Given the description of an element on the screen output the (x, y) to click on. 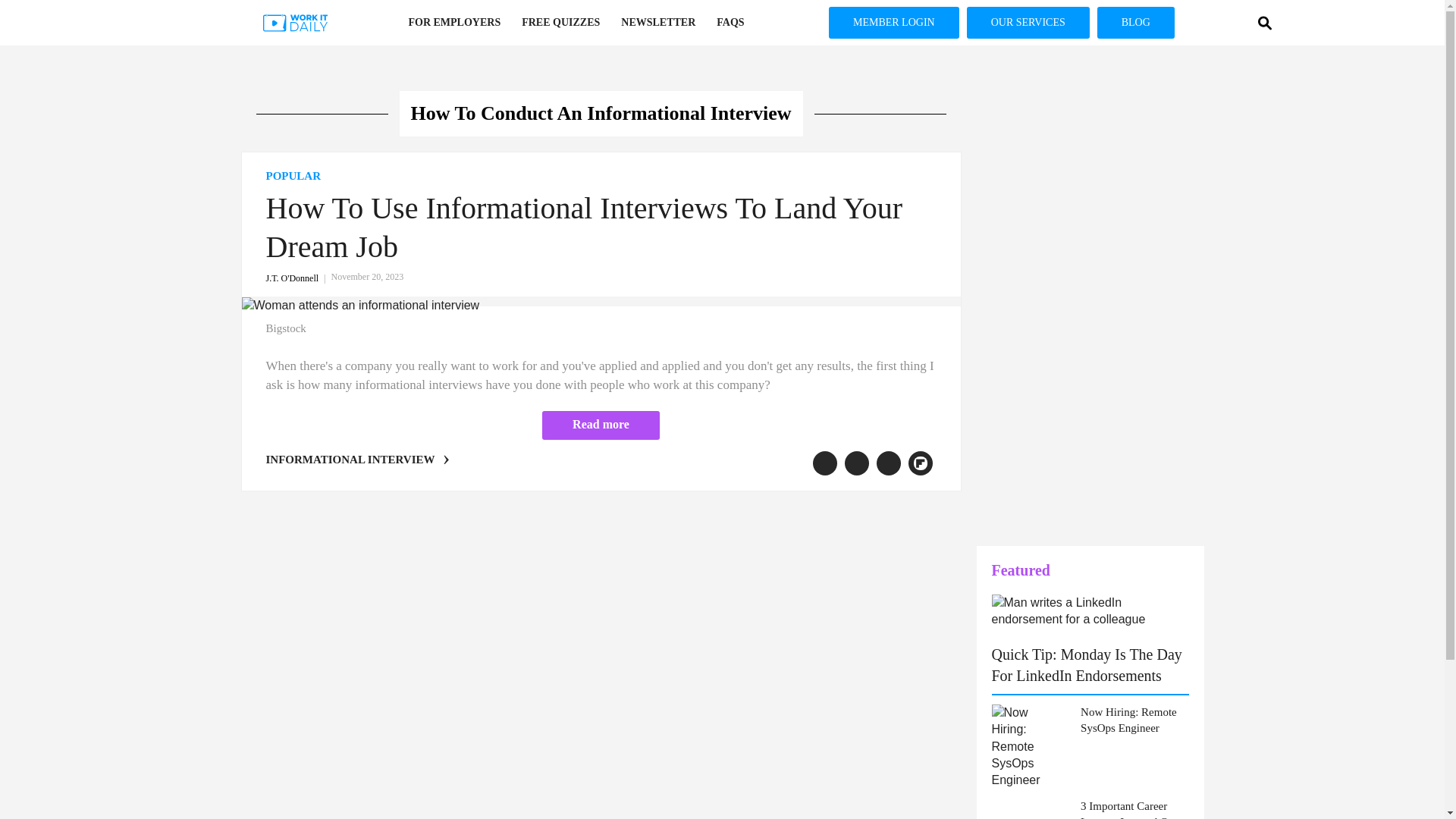
FOR EMPLOYERS (454, 22)
POPULAR (600, 176)
J.T. O'Donnell (297, 277)
Quick Tip: Monday Is The Day For LinkedIn Endorsements (1086, 664)
Now Hiring: Remote SysOps Engineer (1134, 720)
3 Important Career Lessons Learned On And Off The Field (1134, 808)
MEMBER LOGIN (893, 22)
OUR SERVICES (1027, 22)
FREE QUIZZES (560, 22)
How To Use Informational Interviews To Land Your Dream Job (582, 226)
NEWSLETTER (658, 22)
INFORMATIONAL INTERVIEW (348, 459)
FAQS (730, 22)
BLOG (1135, 22)
